Given the description of an element on the screen output the (x, y) to click on. 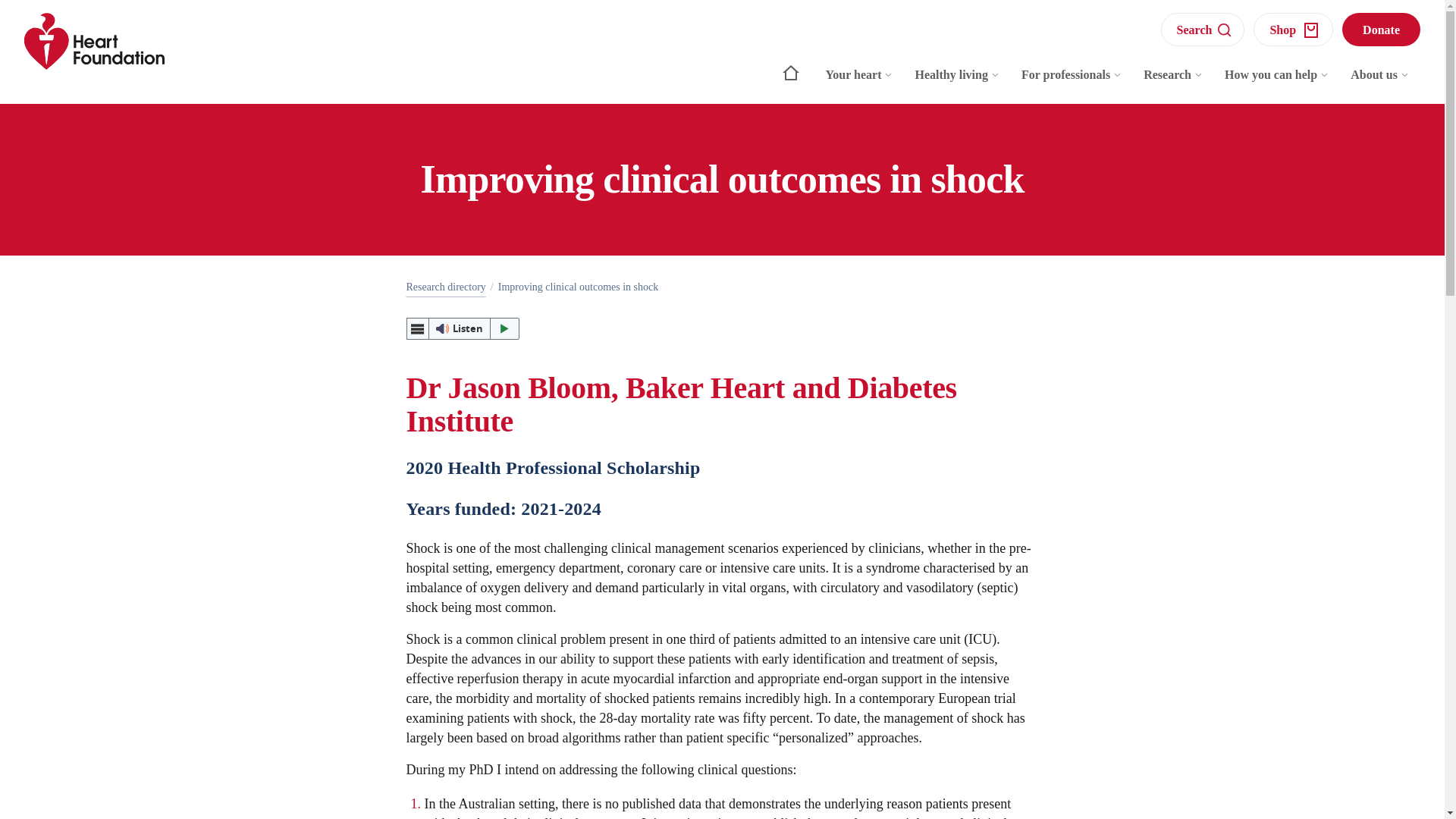
Listen to this page using ReadSpeaker webReader (462, 328)
Healthy living (957, 81)
Donate (1381, 29)
About us (1380, 81)
webReader menu (417, 328)
For professionals (1071, 81)
Shop (1293, 29)
How you can help (1276, 81)
Research directory (446, 286)
Search (1202, 29)
Research (1173, 81)
Your heart (859, 81)
Listen (462, 328)
